Given the description of an element on the screen output the (x, y) to click on. 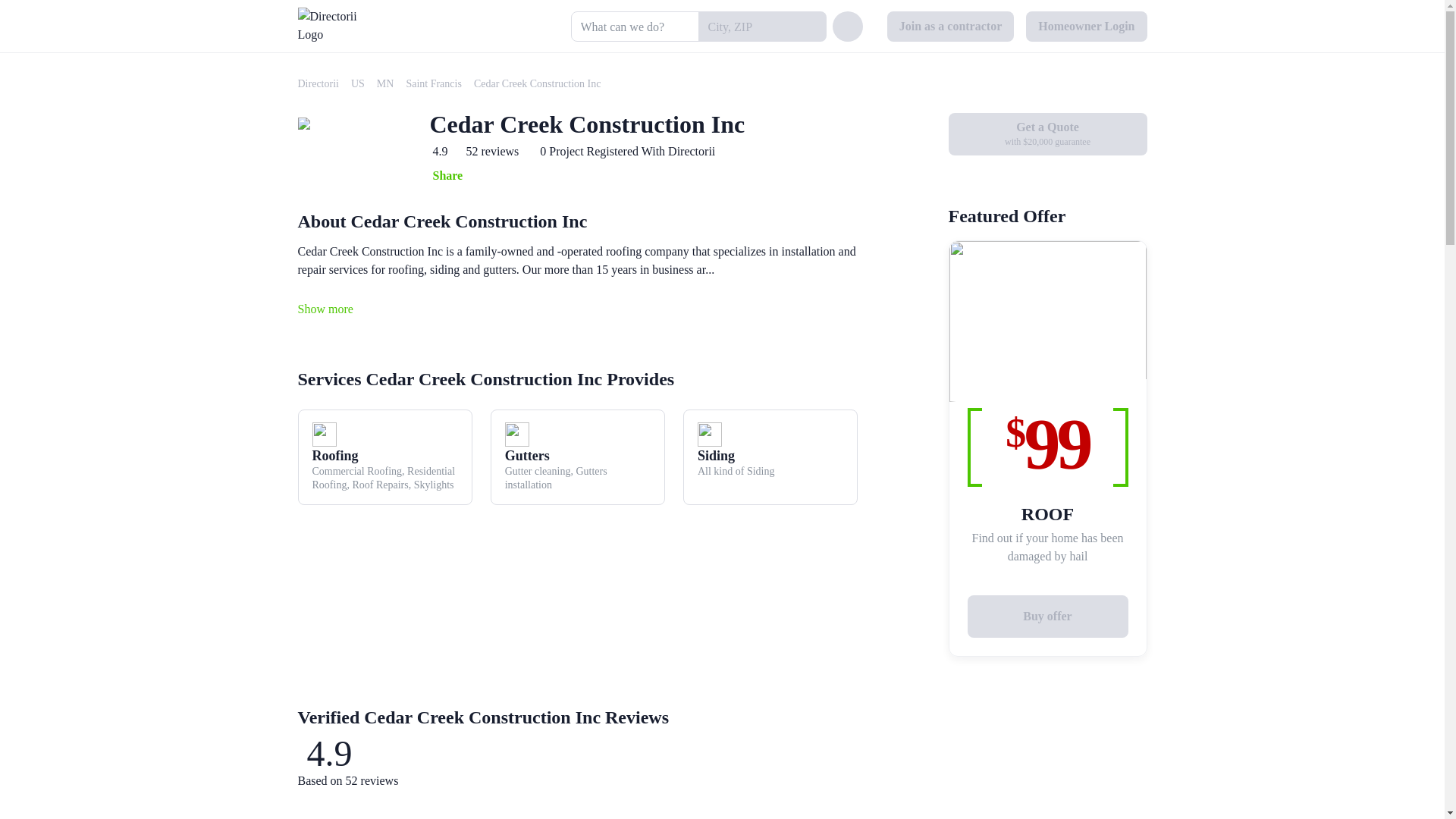
Join as a contractor (950, 26)
US (357, 83)
Directorii (317, 83)
Homeowner Login (1086, 26)
Saint Francis (433, 83)
MN (385, 83)
